Given the description of an element on the screen output the (x, y) to click on. 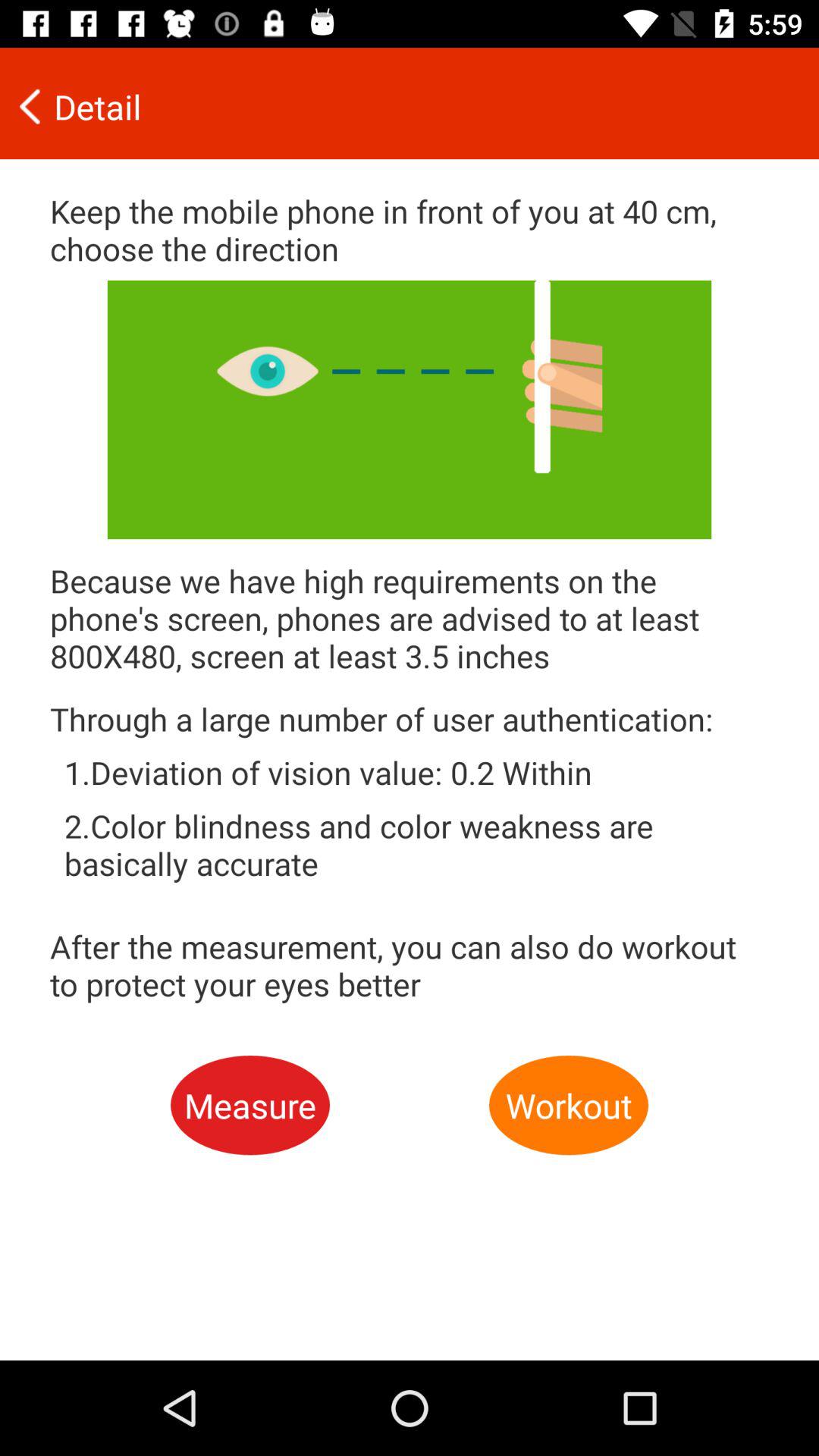
tap the icon to the left of workout icon (249, 1105)
